Given the description of an element on the screen output the (x, y) to click on. 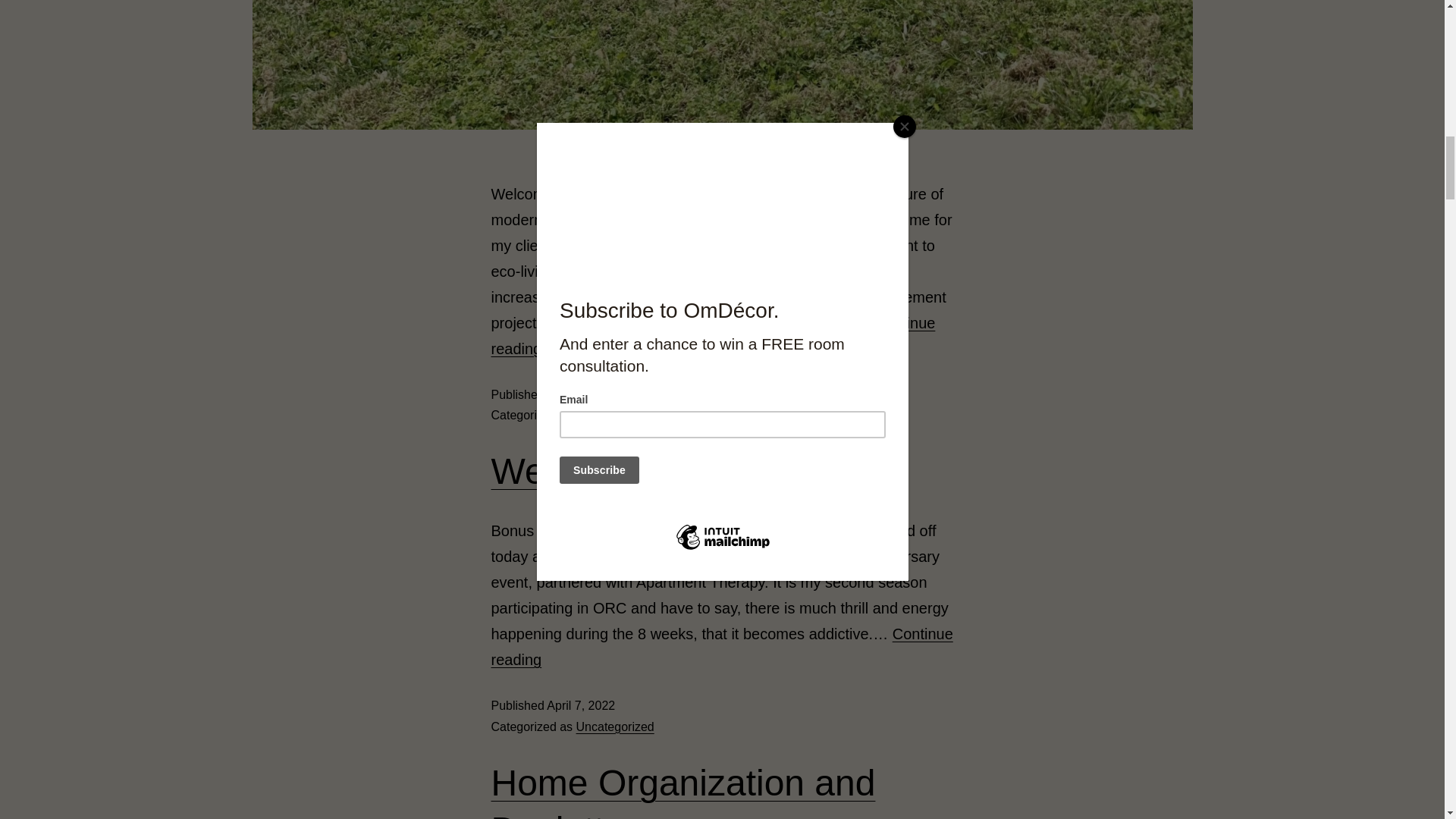
Continue reading (714, 335)
Uncategorized (614, 414)
Continue reading (722, 646)
Home Organization and Declutter (684, 790)
Uncategorized (614, 726)
